Given the description of an element on the screen output the (x, y) to click on. 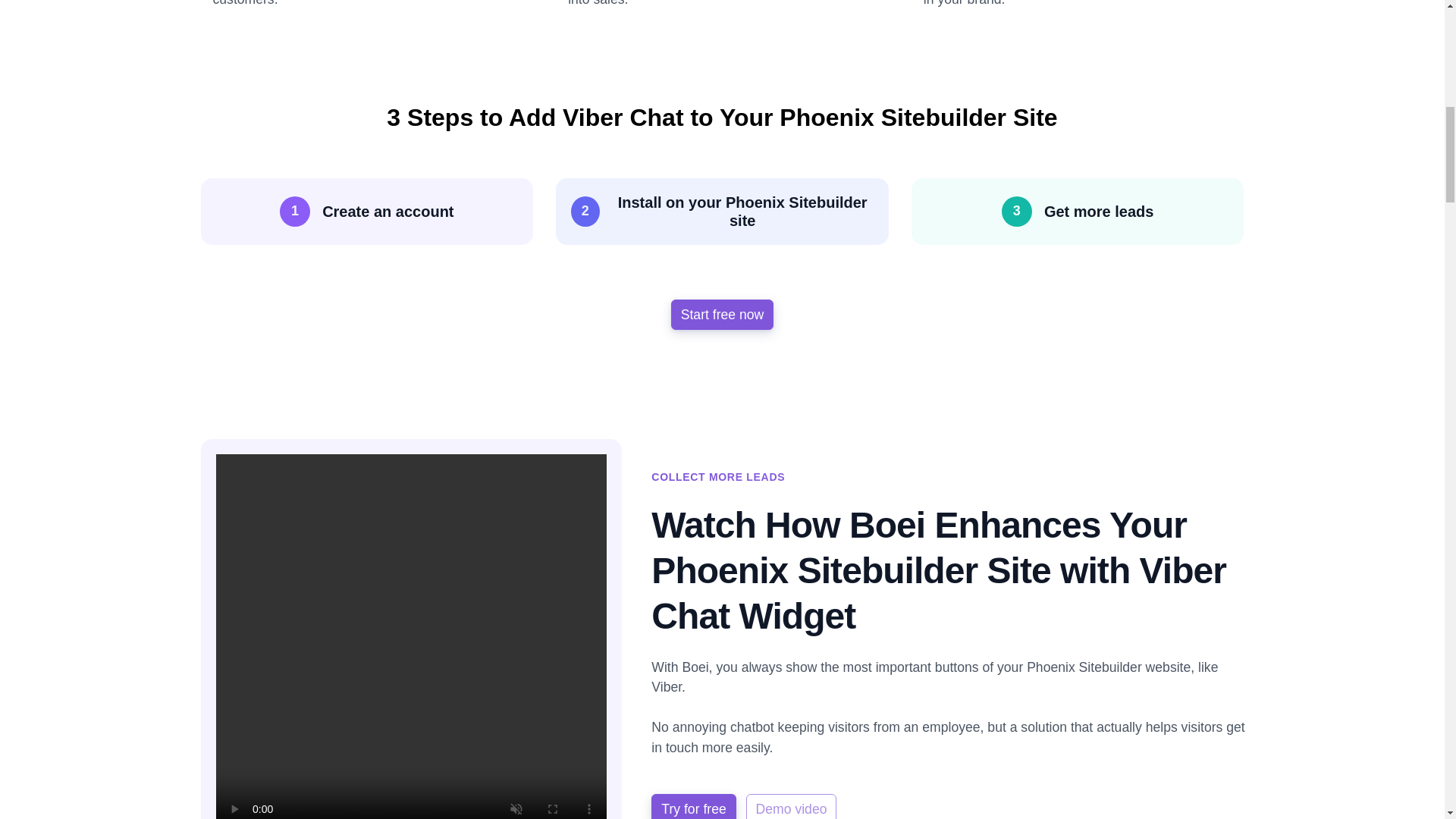
Try for free (692, 806)
Demo video (791, 806)
Start free now (722, 314)
